Given the description of an element on the screen output the (x, y) to click on. 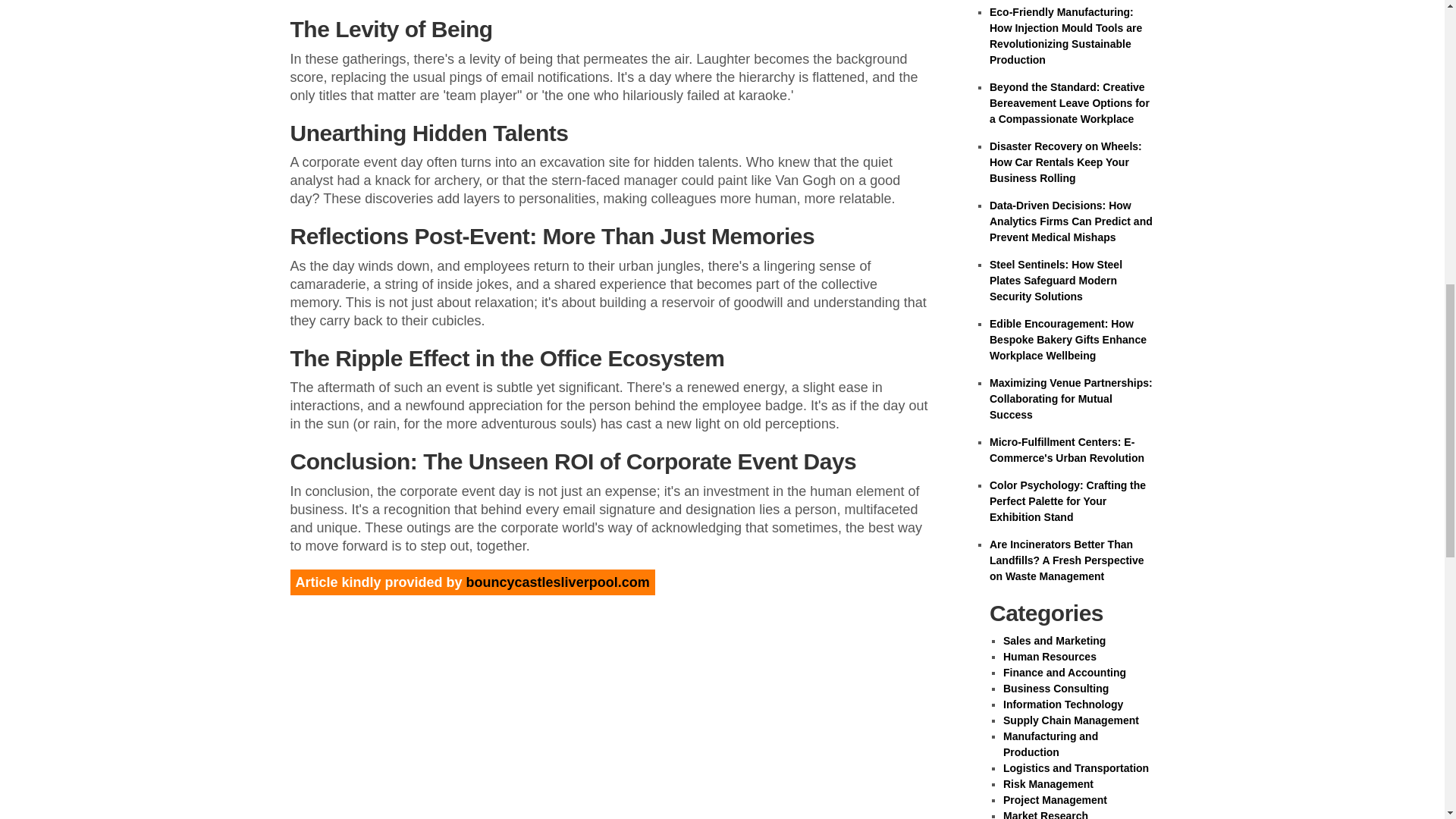
bouncycastlesliverpool.com (557, 581)
Sales and Marketing (1054, 640)
Manufacturing and Production (1050, 744)
Micro-Fulfillment Centers: E-Commerce's Urban Revolution (1067, 449)
Human Resources (1049, 656)
Project Management (1054, 799)
